Given the description of an element on the screen output the (x, y) to click on. 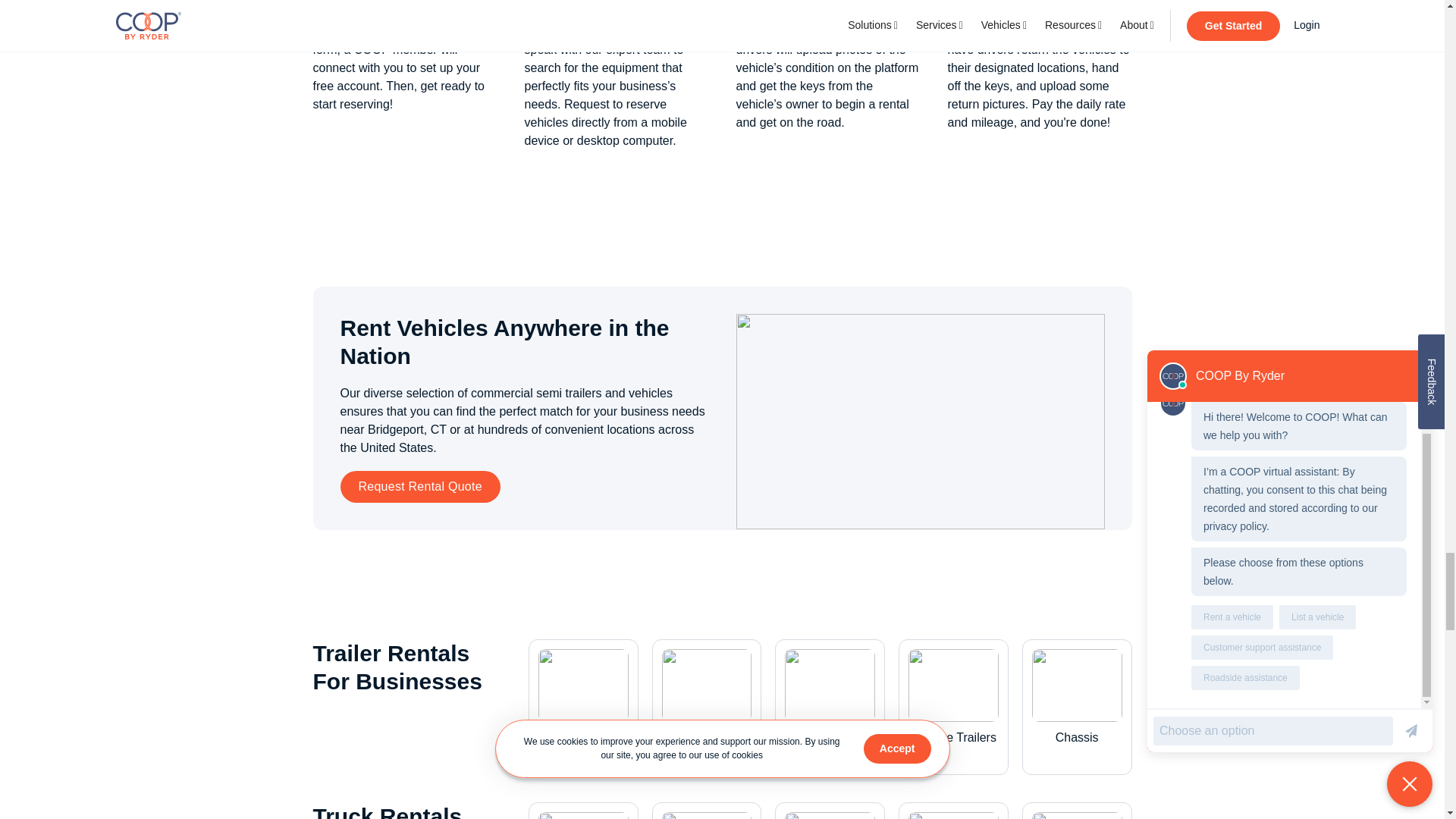
Request Rental Quote (419, 486)
Trailer Rentals For Businesses (406, 667)
